Given the description of an element on the screen output the (x, y) to click on. 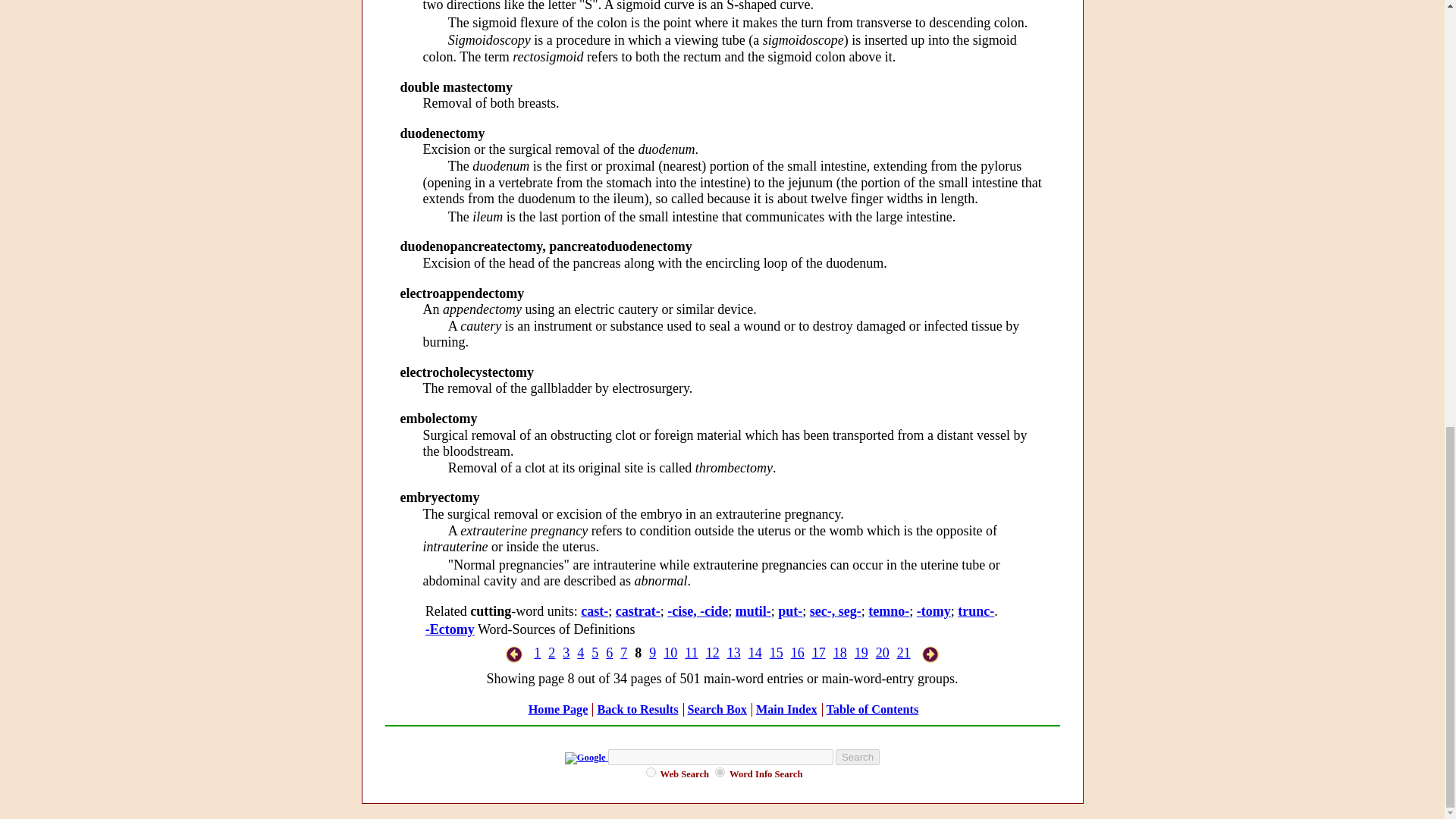
Search (857, 756)
Back to Results (637, 709)
temno- (887, 611)
10 (670, 652)
Search Box (716, 709)
-cise, -cide (697, 611)
17 (818, 652)
put- (789, 611)
15 (776, 652)
16 (797, 652)
